Given the description of an element on the screen output the (x, y) to click on. 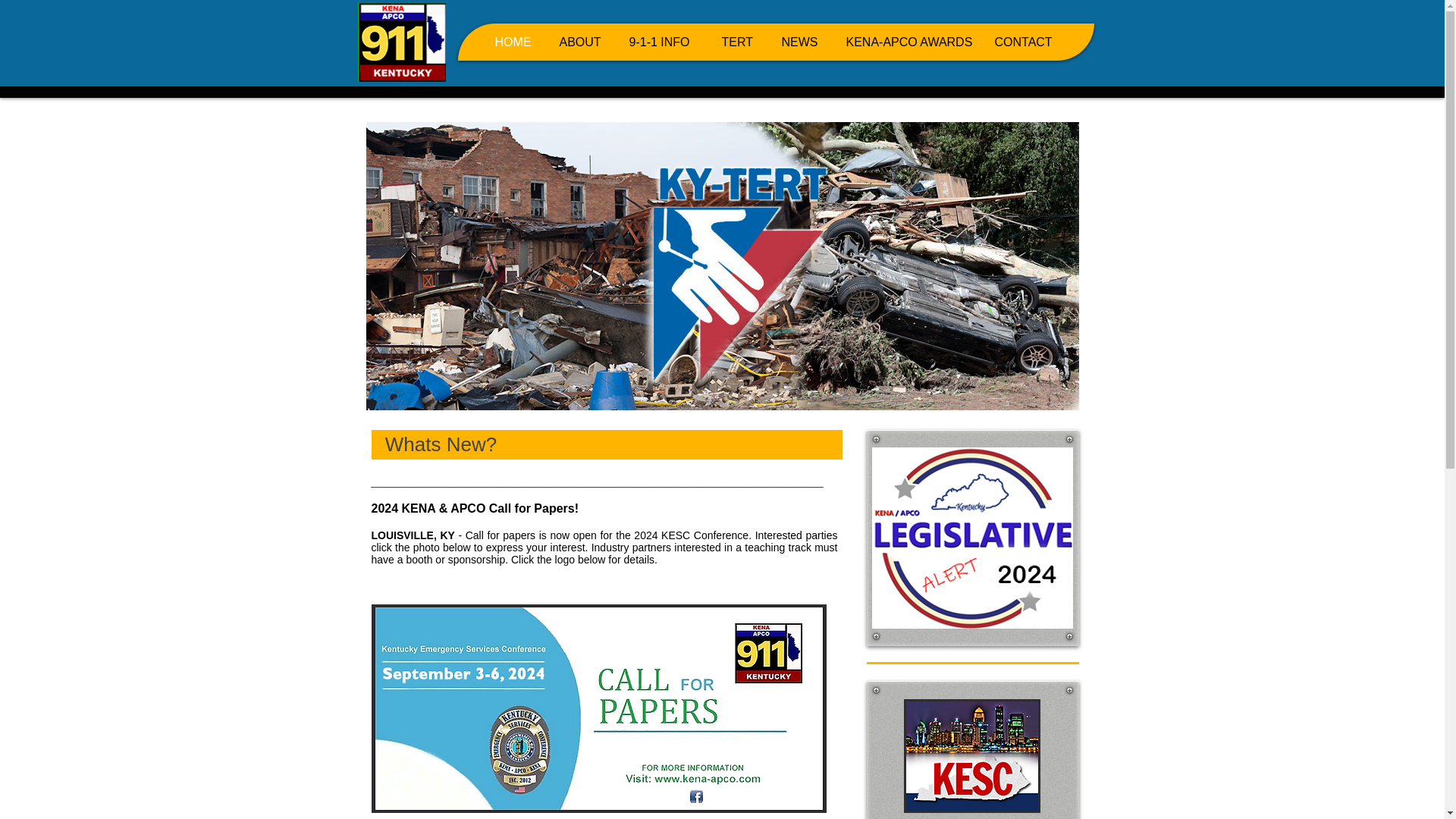
911logosm.png (401, 41)
TERT (734, 42)
CONTACT (1020, 42)
ABOUT (577, 42)
NEWS (797, 42)
Click here for Details (972, 756)
KENA-APCO AWARDS (903, 42)
9-1-1 INFO (658, 42)
HOME (511, 42)
